Given the description of an element on the screen output the (x, y) to click on. 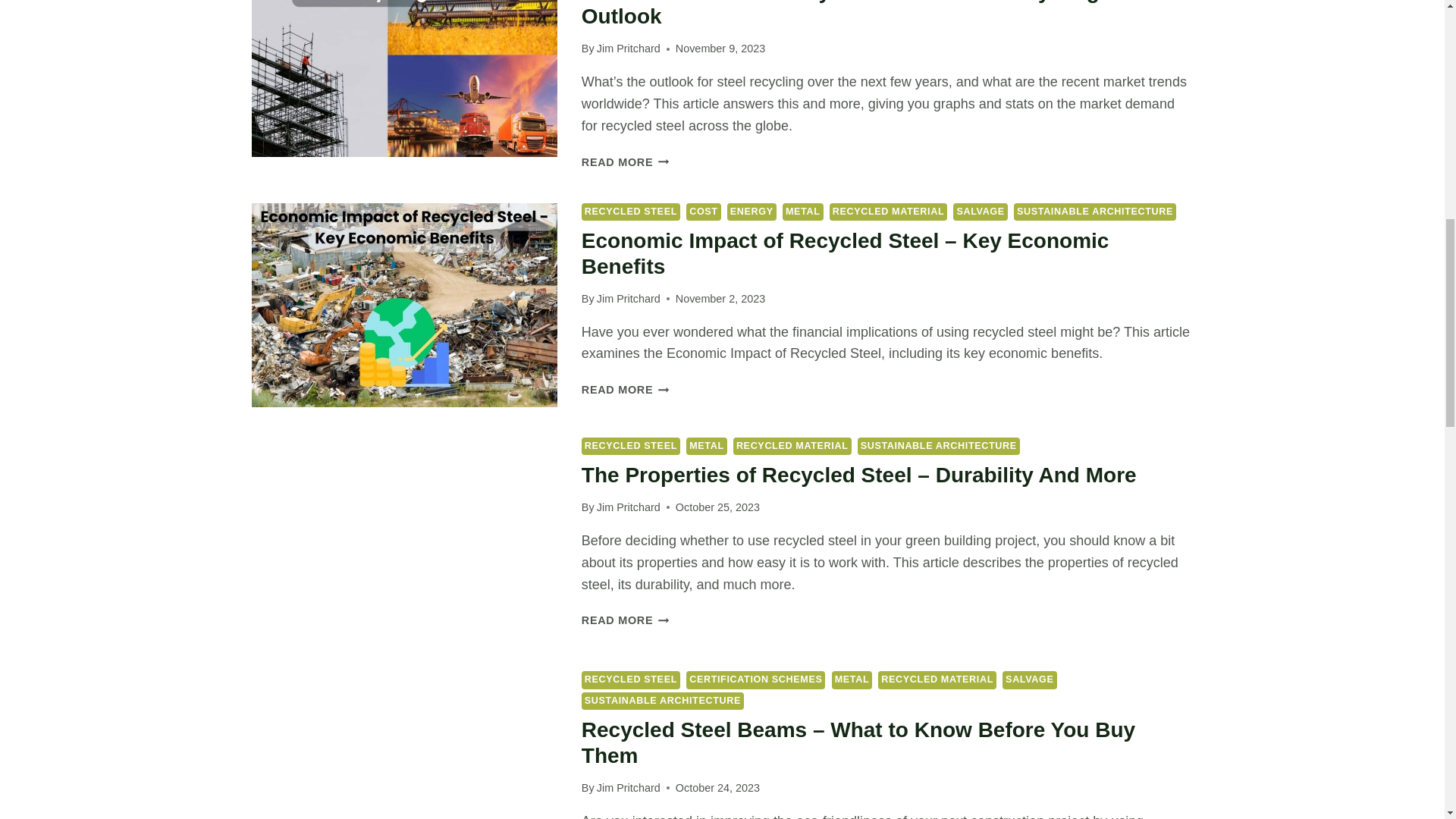
ENERGY (751, 211)
METAL (803, 211)
Jim Pritchard (628, 48)
RECYCLED MATERIAL (888, 211)
COST (702, 211)
RECYCLED STEEL (629, 211)
